Given the description of an element on the screen output the (x, y) to click on. 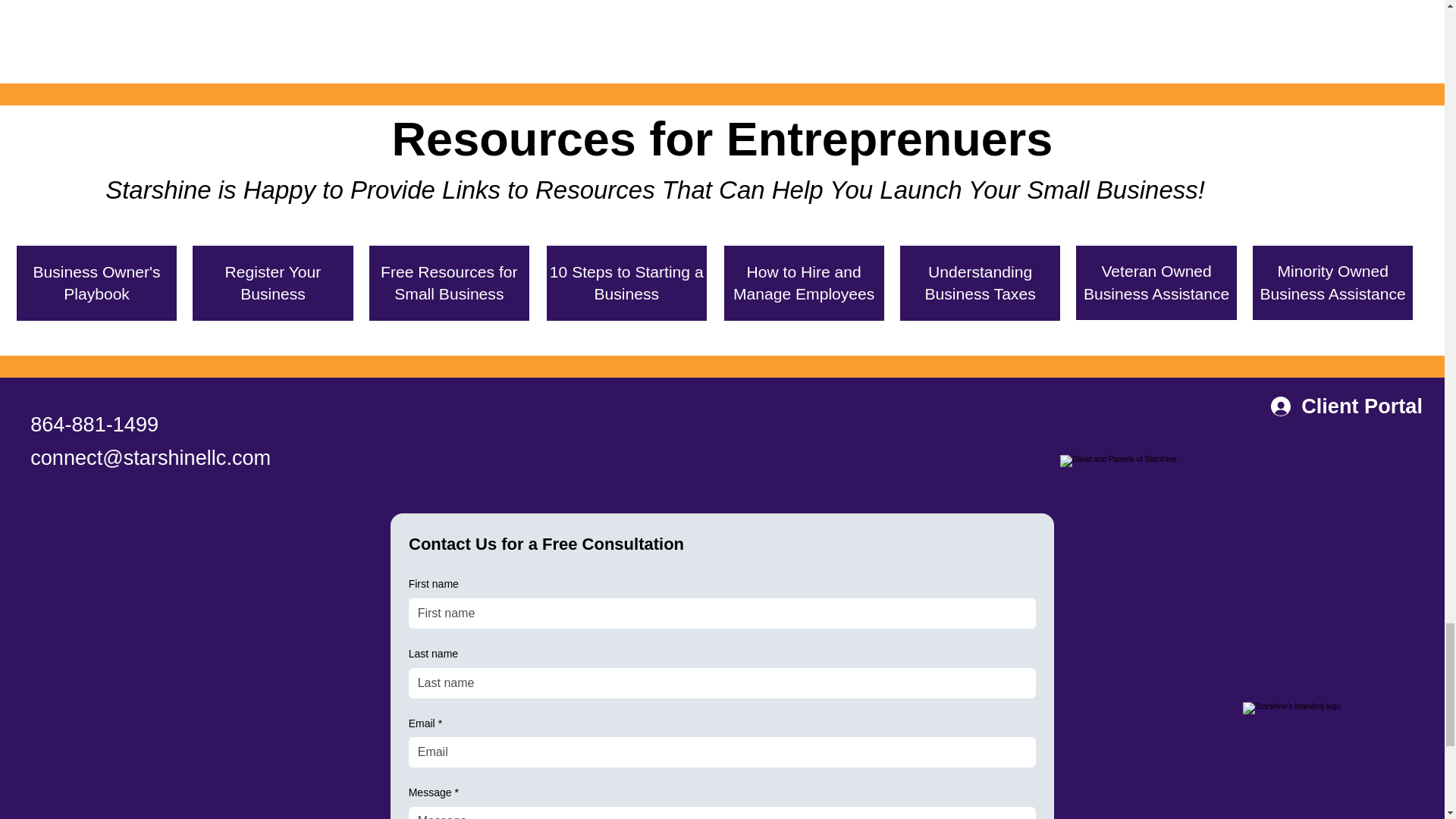
Client Portal (1346, 406)
Free Resources for Small Business (449, 282)
Understanding Business Taxes (979, 282)
Business Owner's Playbook (96, 282)
Register Your Business (272, 282)
Minority Owned Business Assistance (1332, 282)
How to Hire and Manage Employees (803, 282)
10 Steps to Starting a Business (626, 282)
Veteran Owned Business Assistance (1155, 282)
